Given the description of an element on the screen output the (x, y) to click on. 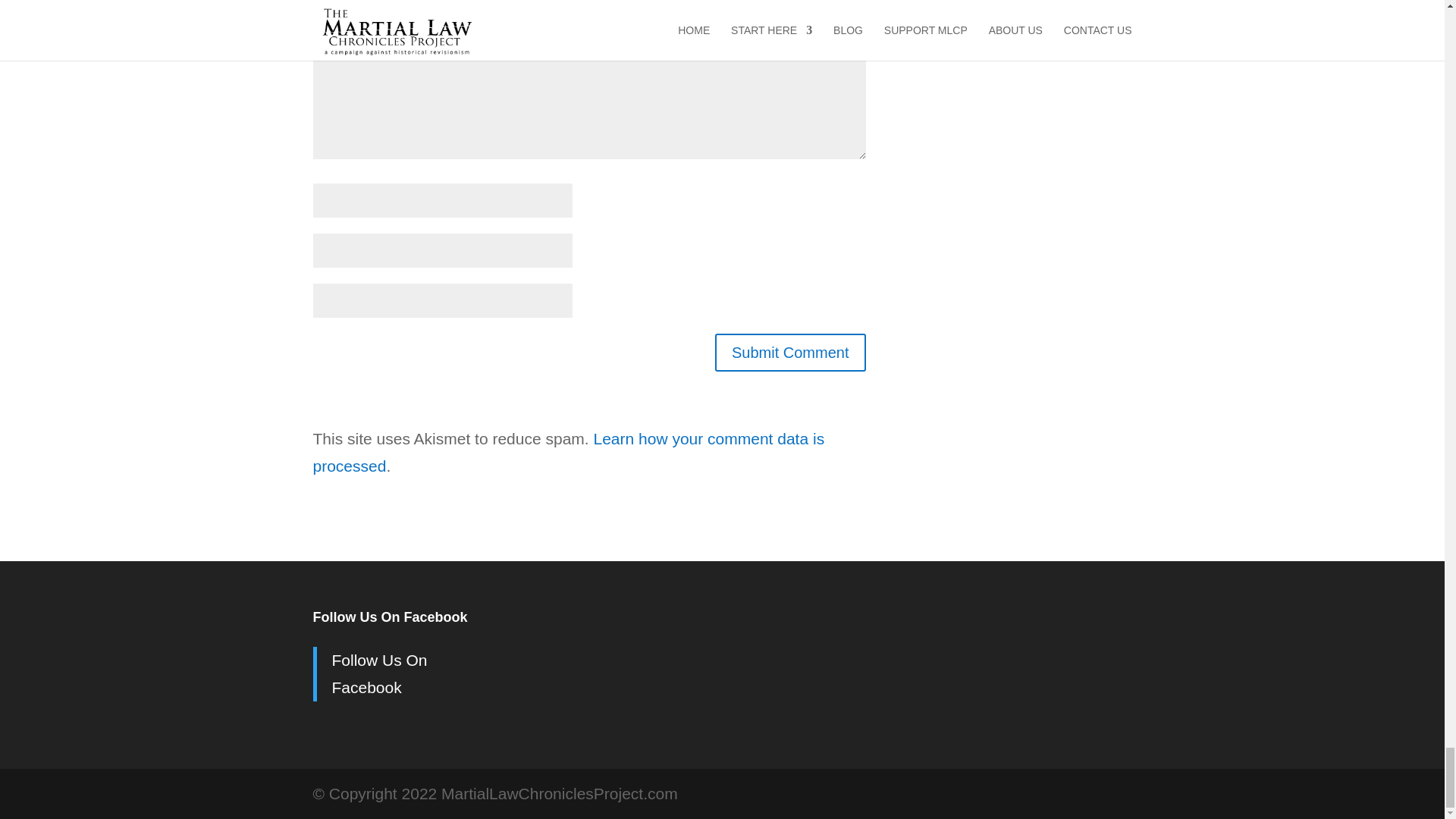
Submit Comment (790, 352)
Learn how your comment data is processed (568, 452)
Submit Comment (790, 352)
